Given the description of an element on the screen output the (x, y) to click on. 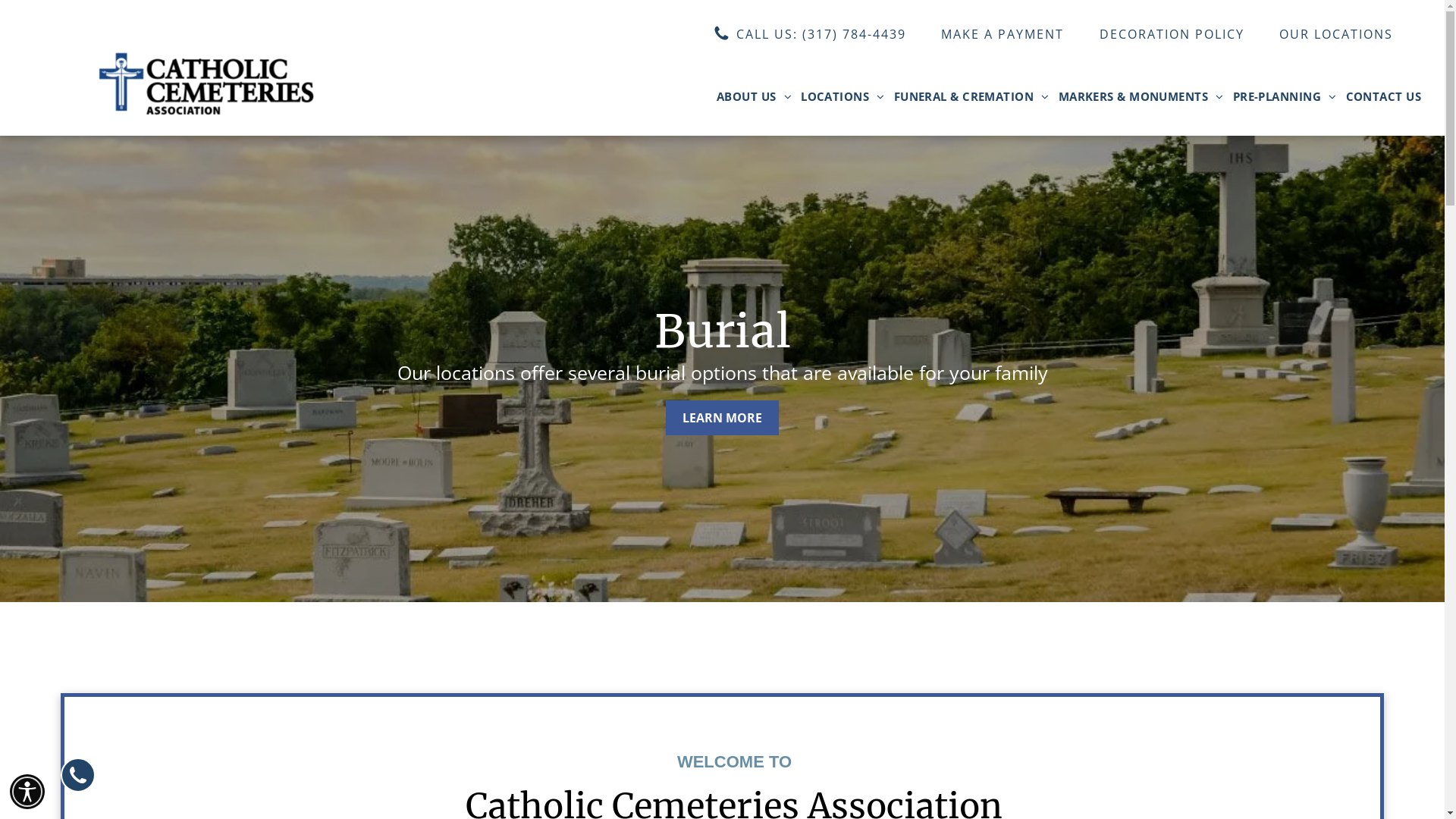
LOCATIONS Element type: text (842, 96)
MAKE A PAYMENT Element type: text (1002, 33)
DECORATION POLICY Element type: text (1171, 33)
tel:(317) 784-4439 Element type: text (77, 774)
CALL US: (317) 784-4439 Element type: text (809, 33)
PRE-PLANNING Element type: text (1284, 96)
ABOUT US Element type: text (754, 96)
MARKERS & MONUMENTS Element type: text (1141, 96)
FUNERAL & CREMATION Element type: text (971, 96)
CONTACT US Element type: text (1382, 96)
OUR LOCATIONS Element type: text (1335, 33)
